Given the description of an element on the screen output the (x, y) to click on. 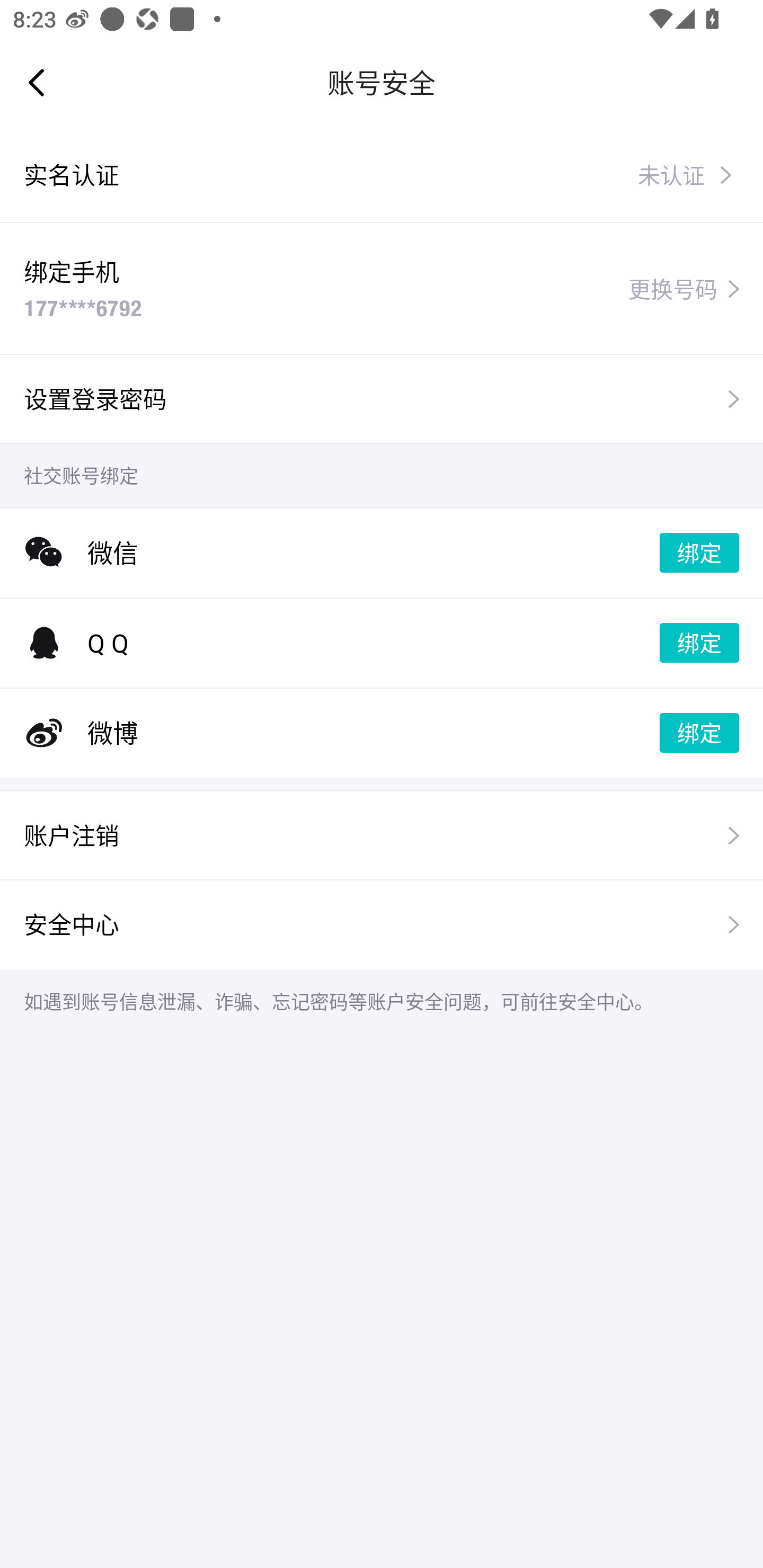
Navigate up (36, 82)
实名认证 未认证 (381, 174)
绑定手机 177****6792 更换号码 (381, 288)
设置登录密码 (381, 398)
微信 绑定 (381, 552)
Q Q 绑定 (381, 643)
微博 绑定 (381, 732)
账户注销 (381, 835)
安全中心 (381, 924)
